Given the description of an element on the screen output the (x, y) to click on. 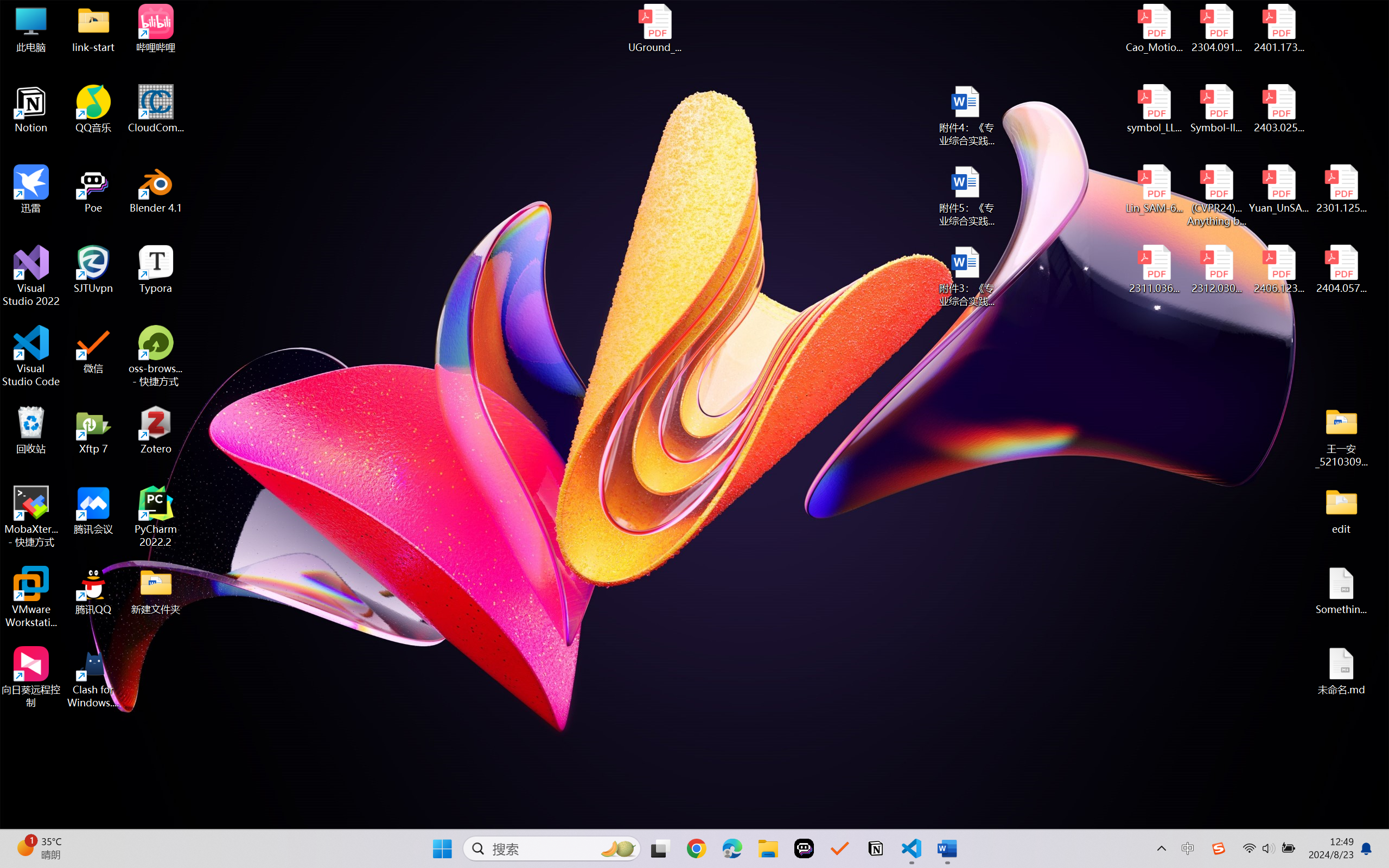
2304.09121v3.pdf (1216, 28)
CloudCompare (156, 109)
Something.md (1340, 591)
Typora (156, 269)
2403.02502v1.pdf (1278, 109)
2404.05719v1.pdf (1340, 269)
symbol_LLM.pdf (1154, 109)
